Given the description of an element on the screen output the (x, y) to click on. 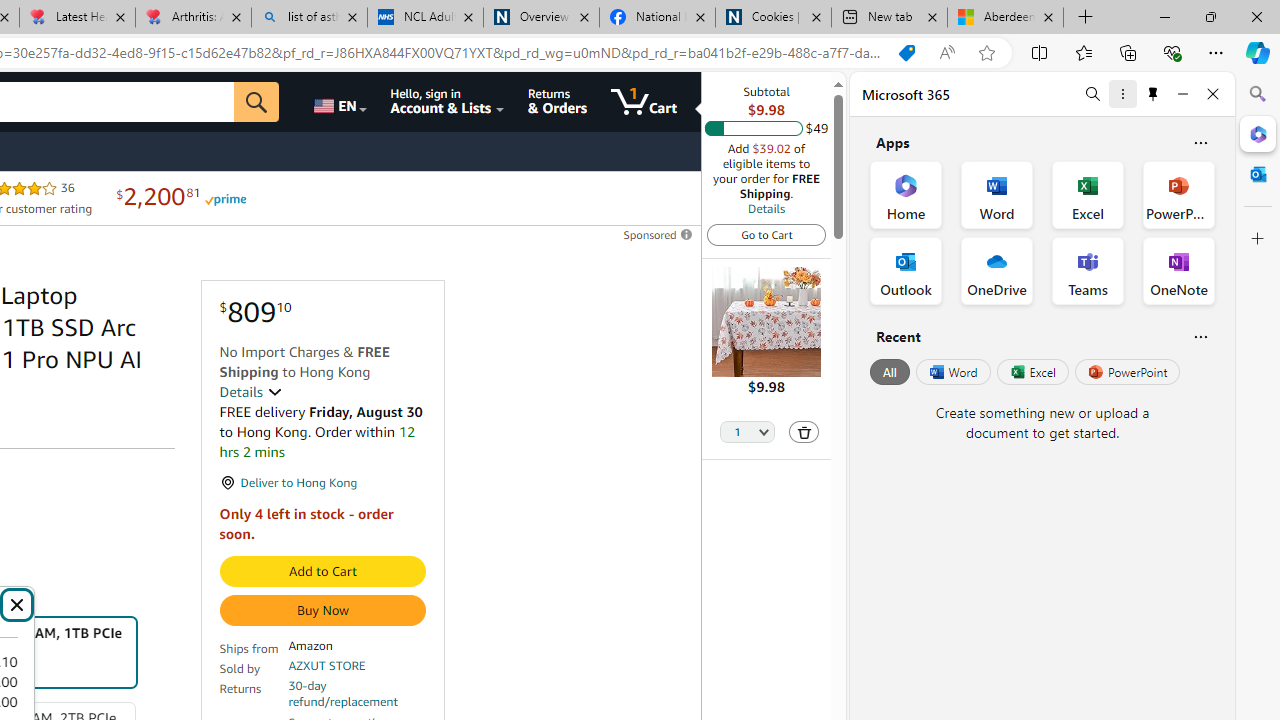
Go to Cart (766, 234)
Add to Cart (322, 571)
Excel Office App (1087, 194)
Hello, sign in Account & Lists (447, 101)
Delete (803, 431)
Choose a language for shopping. (339, 101)
Outlook Office App (906, 270)
You have the best price! (906, 53)
